Given the description of an element on the screen output the (x, y) to click on. 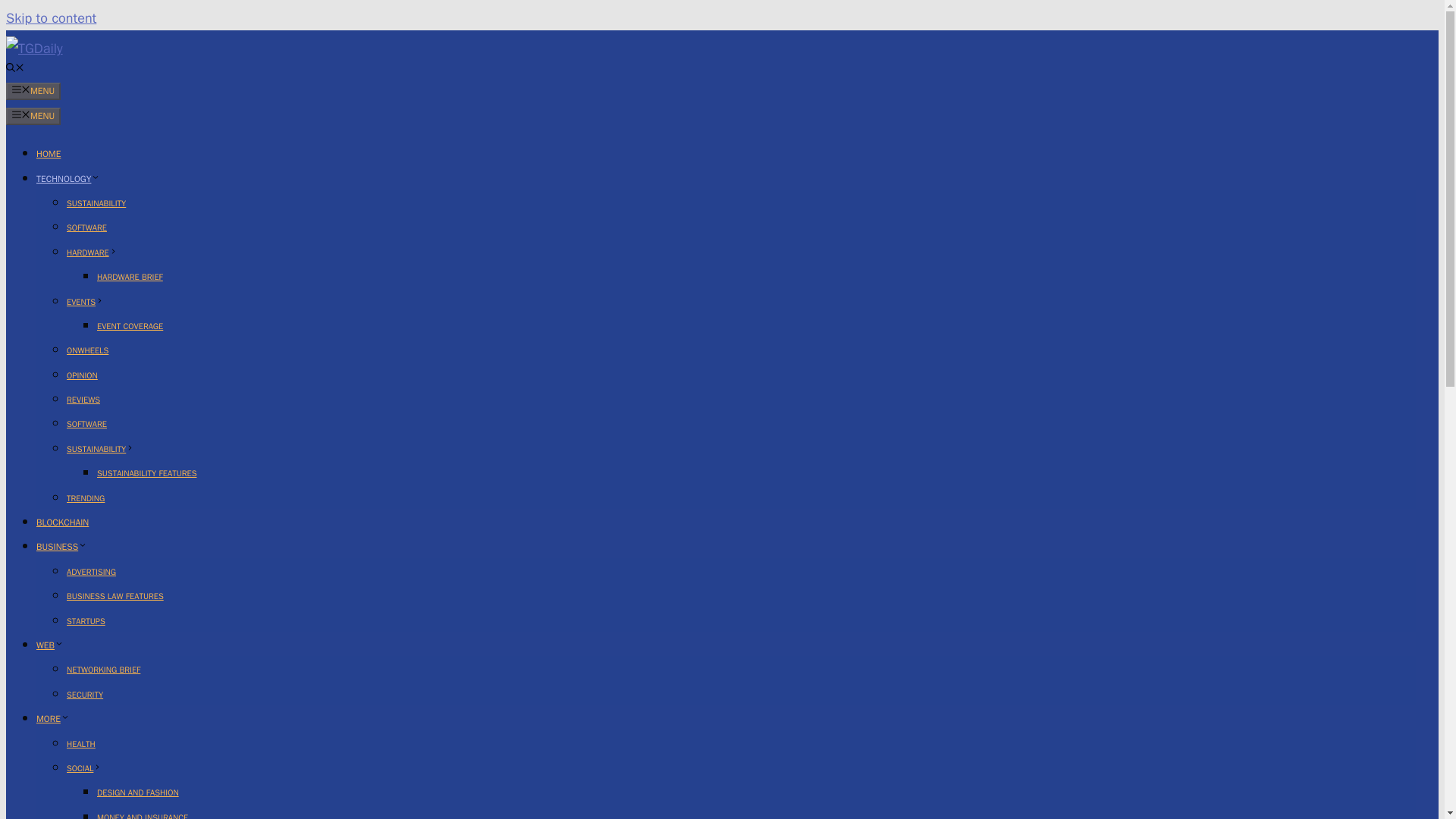
DESIGN AND FASHION (138, 792)
BLOCKCHAIN (62, 522)
MONEY AND INSURANCE (142, 815)
TECHNOLOGY (68, 178)
ONWHEELS (86, 349)
Skip to content (50, 17)
TRENDING (85, 498)
REVIEWS (83, 398)
SOCIAL (83, 767)
MORE (52, 718)
SUSTAINABILITY (95, 203)
NETWORKING BRIEF (102, 669)
MENU (33, 116)
OPINION (81, 375)
BUSINESS (61, 546)
